Given the description of an element on the screen output the (x, y) to click on. 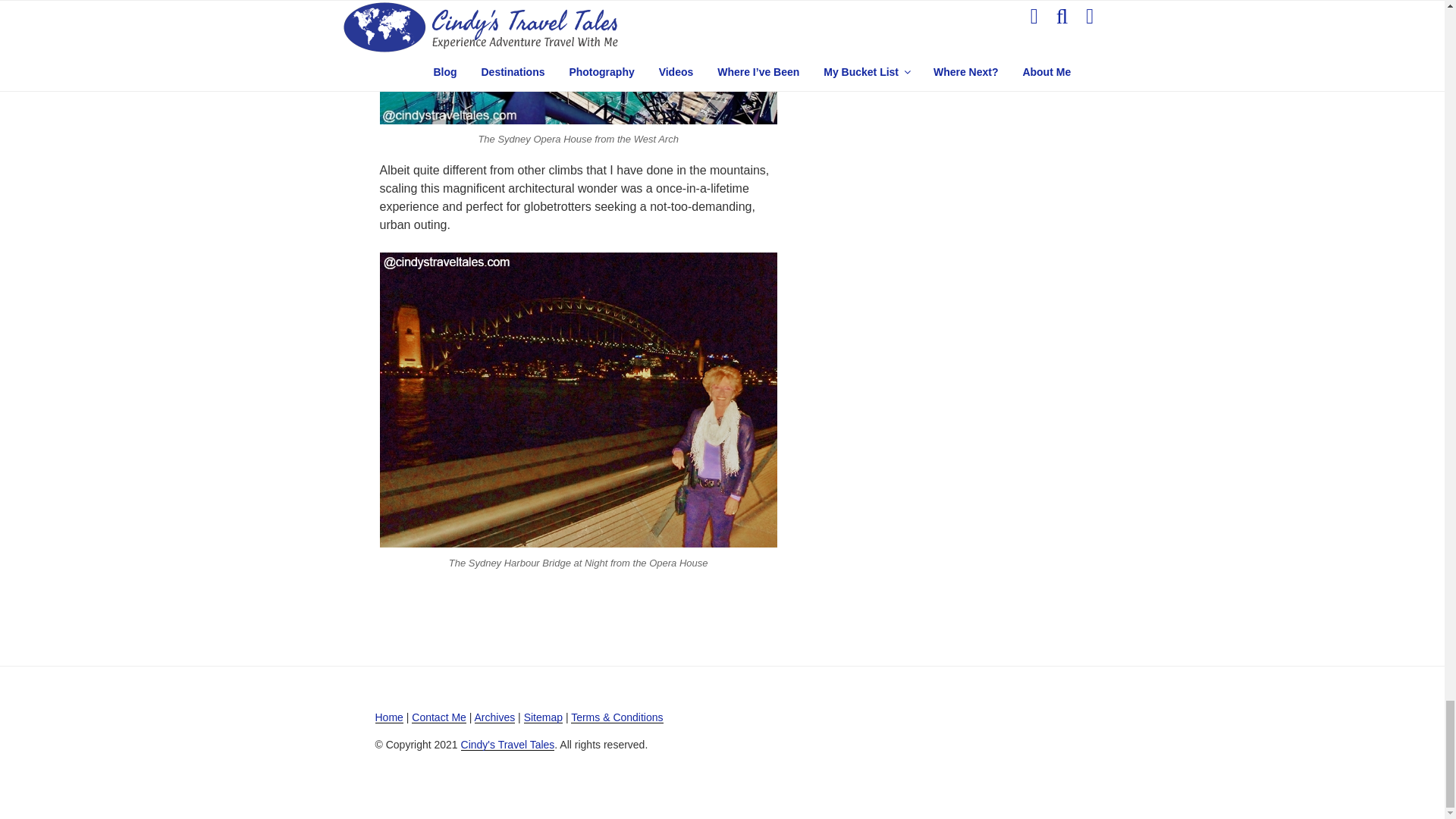
Sitemap (543, 717)
Home (388, 717)
Archives (494, 717)
Contact Me (438, 717)
